Given the description of an element on the screen output the (x, y) to click on. 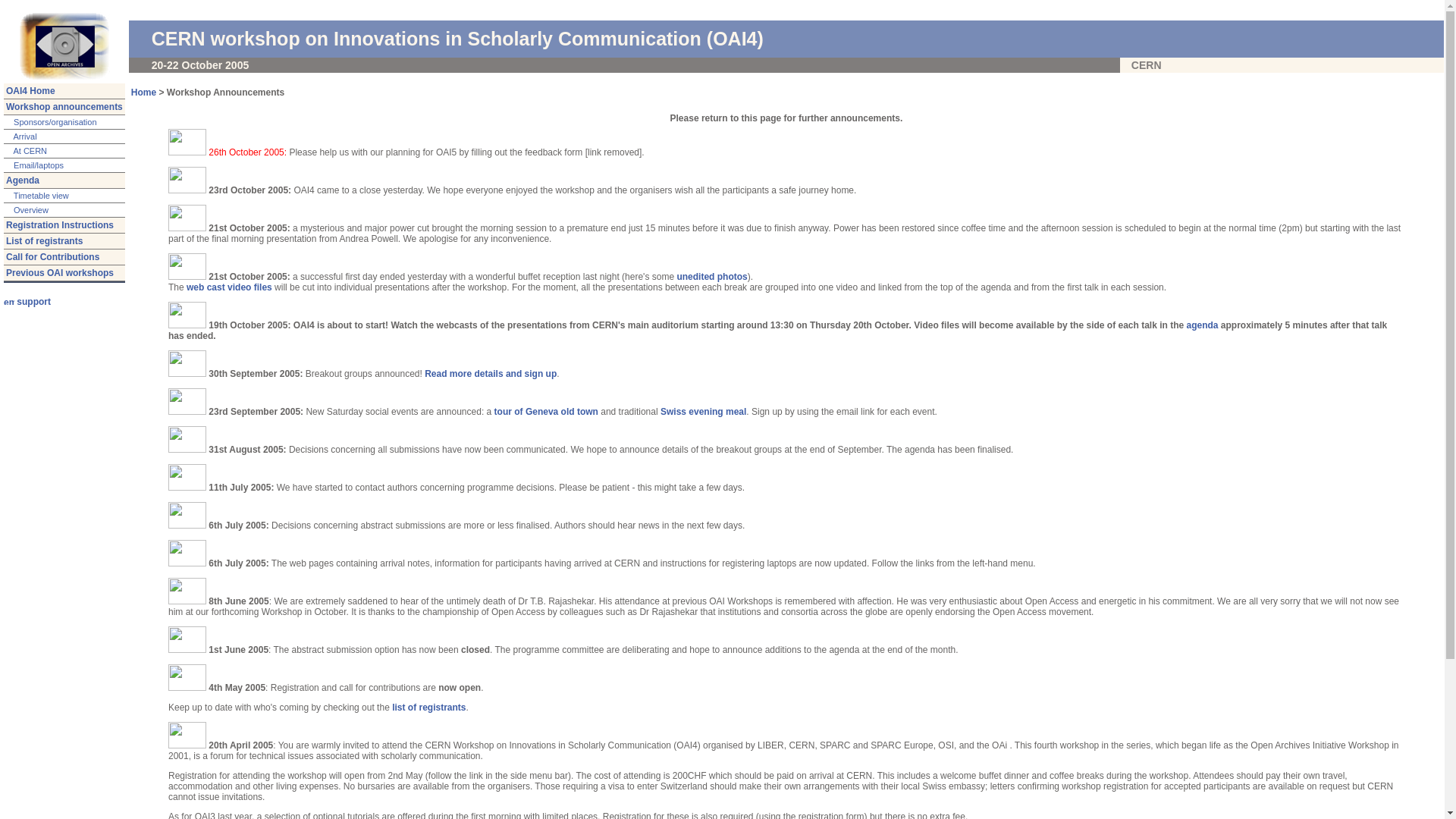
Registration Instructions Element type: text (59, 224)
 Overview Element type: text (29, 209)
agenda Element type: text (1201, 325)
Read more details and sign up Element type: text (490, 373)
web cast video files Element type: text (229, 287)
OAI4 Home Element type: text (30, 90)
 Sponsors/organisation Element type: text (54, 121)
unedited photos Element type: text (711, 276)
 Email/laptops Element type: text (37, 164)
Previous OAI workshops Element type: text (59, 272)
List of registrants Element type: text (44, 240)
Call for Contributions Element type: text (52, 256)
 Timetable view Element type: text (40, 195)
Workshop announcements Element type: text (64, 106)
Swiss evening meal Element type: text (703, 411)
Home Element type: text (143, 92)
Agenda Element type: text (22, 180)
support Element type: text (26, 301)
tour of Geneva old town Element type: text (546, 411)
 Arrival Element type: text (24, 136)
 At CERN Element type: text (29, 150)
list of registrants Element type: text (427, 707)
